Given the description of an element on the screen output the (x, y) to click on. 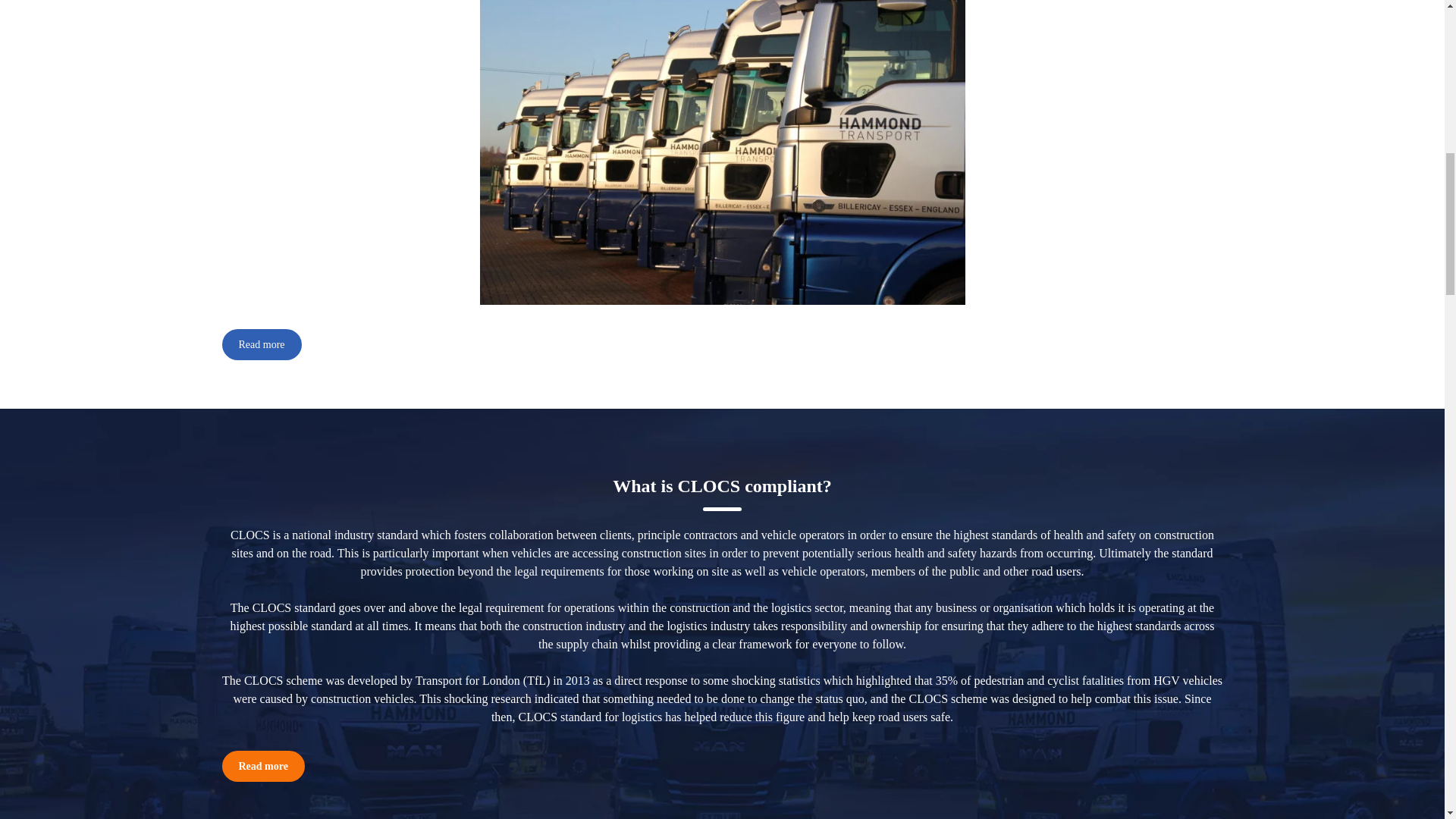
Read more (262, 766)
Read more (261, 344)
